Given the description of an element on the screen output the (x, y) to click on. 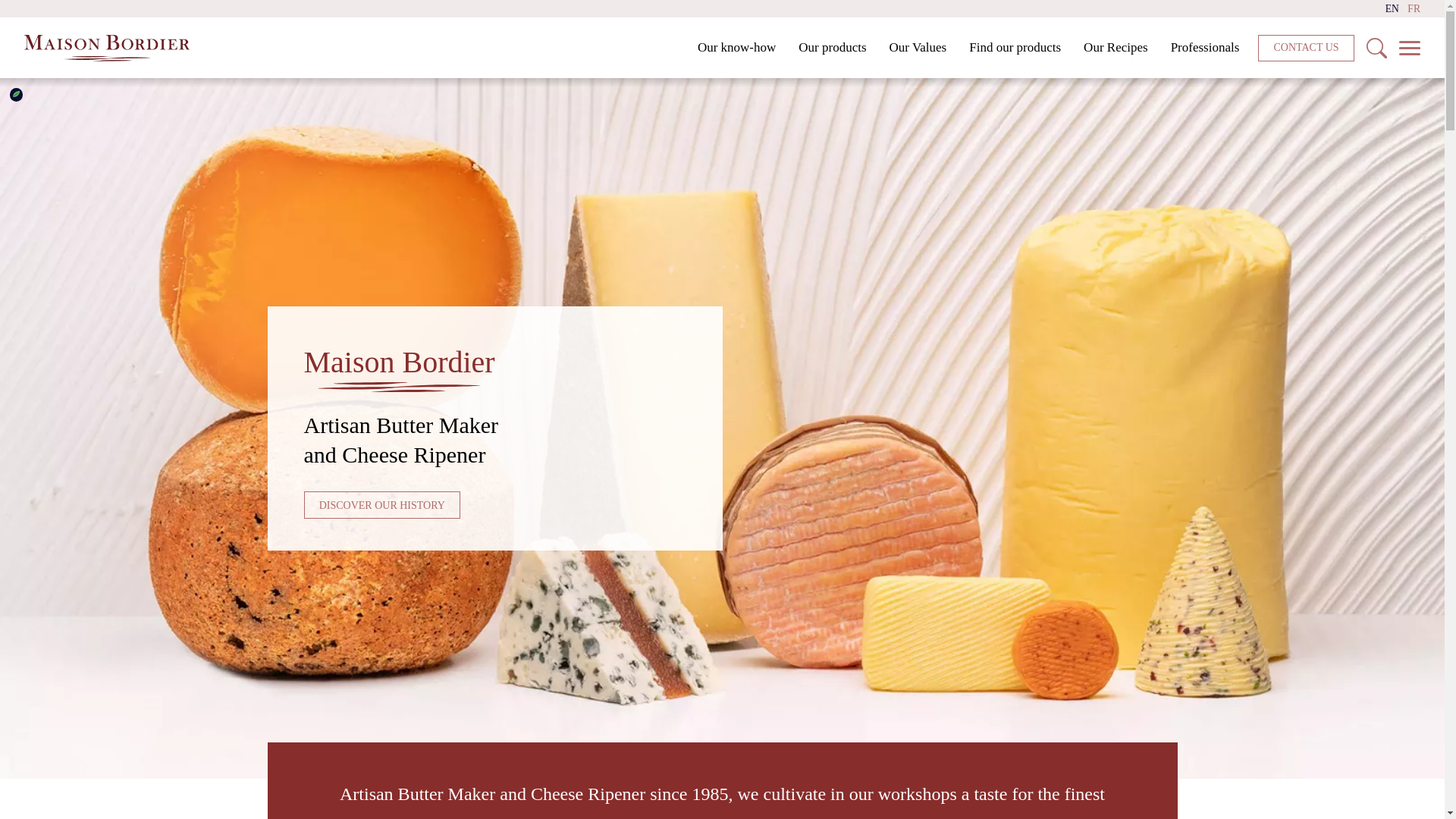
CONTACT US (1305, 48)
FR (1414, 8)
Our know-how (736, 47)
Our Values (917, 47)
DISCOVER OUR HISTORY (381, 504)
Find our products (1014, 47)
Professionals (1204, 47)
Our Recipes (1114, 47)
EN (1392, 8)
Our products (832, 47)
